Given the description of an element on the screen output the (x, y) to click on. 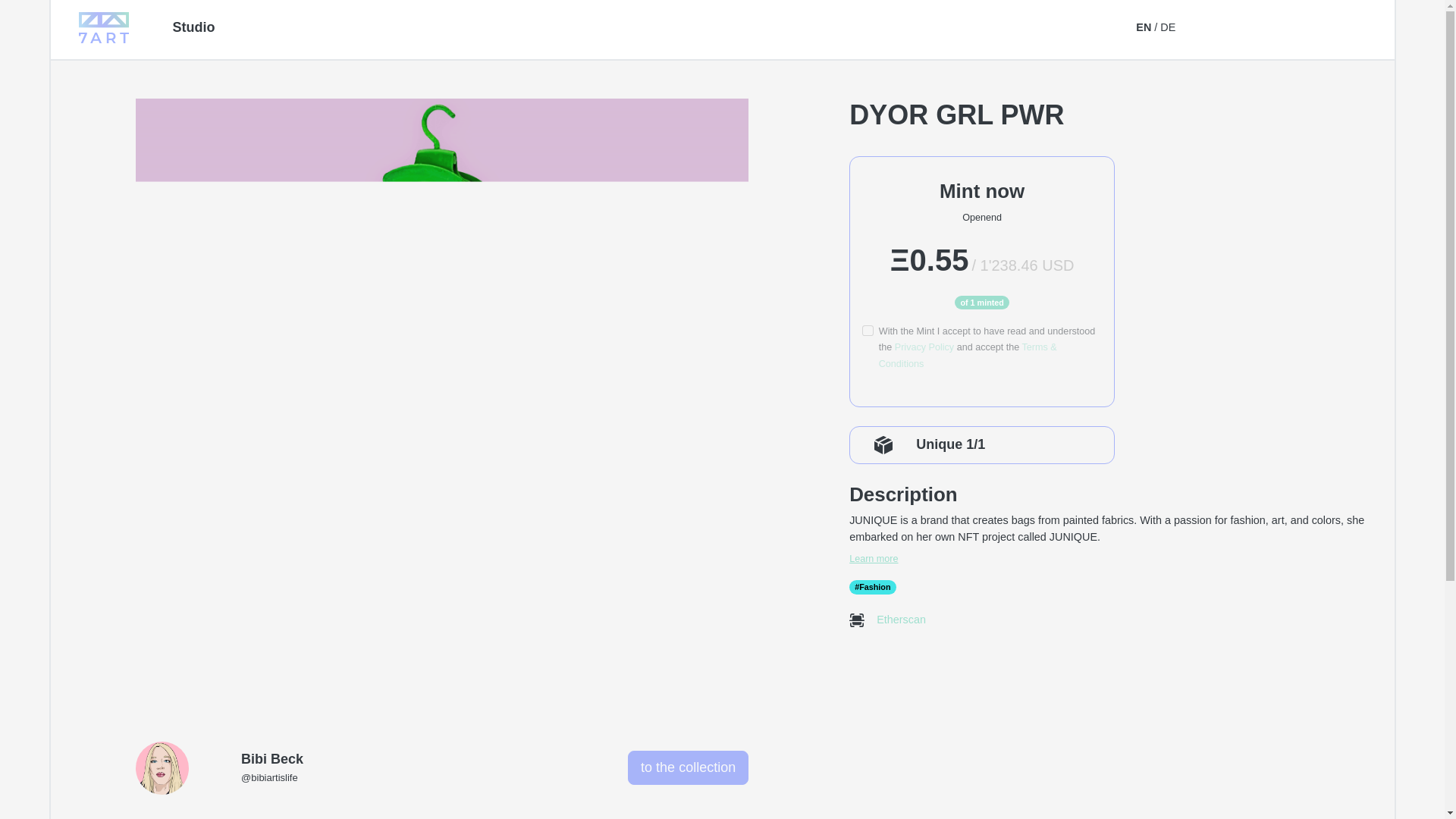
to the collection (687, 767)
Studio (194, 27)
EN (1143, 27)
DE (1167, 27)
Etherscan (896, 619)
Learn more (1113, 558)
Privacy Policy (924, 347)
1 (866, 330)
